Given the description of an element on the screen output the (x, y) to click on. 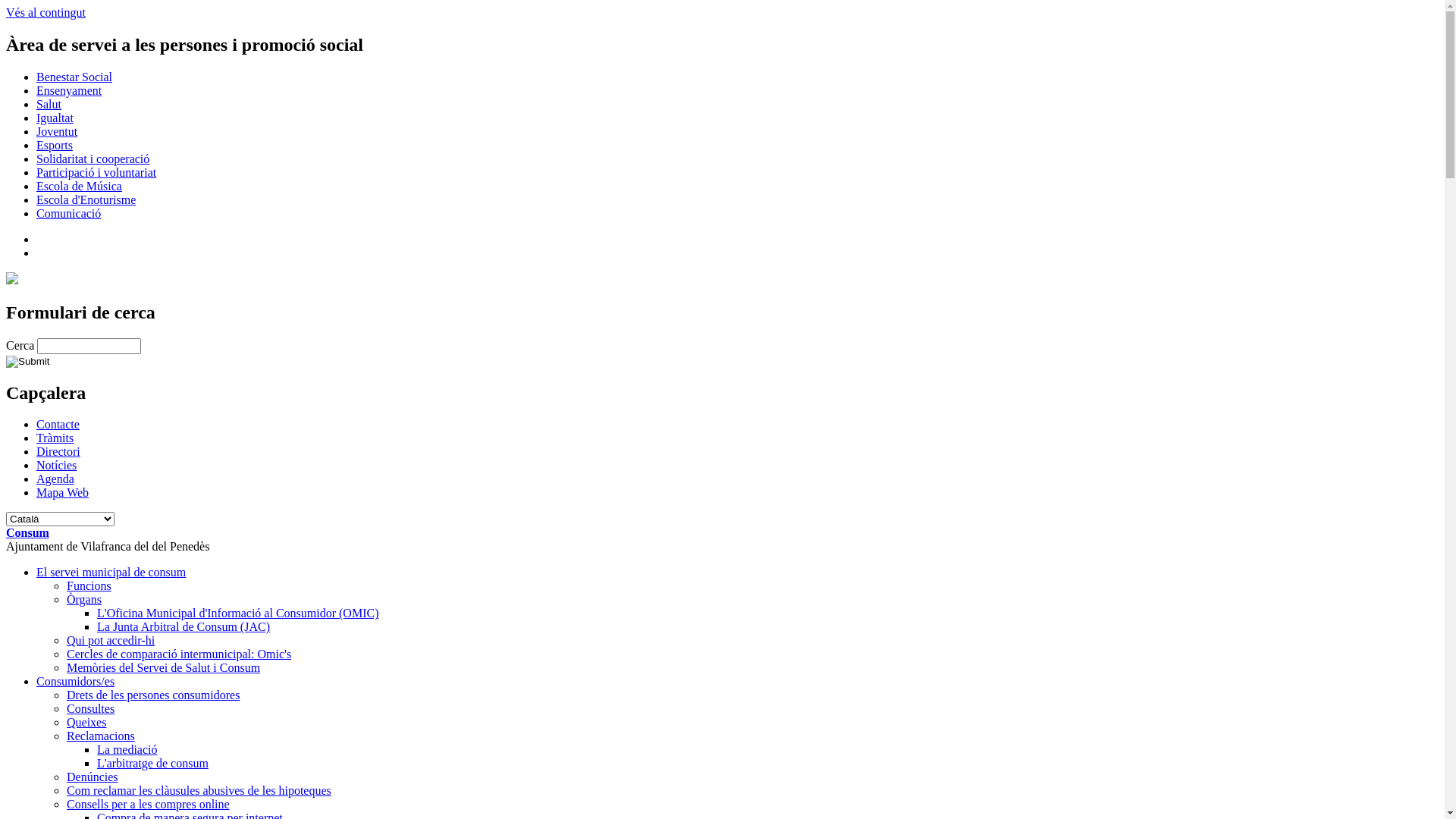
Benestar Social Element type: text (74, 76)
L'arbitratge de consum Element type: text (152, 762)
Consumidors/es Element type: text (75, 680)
Salut Element type: text (48, 103)
Consum Element type: text (27, 532)
Consells per a les compres online Element type: text (147, 803)
Qui pot accedir-hi Element type: text (110, 639)
Contacte Element type: text (57, 423)
Mapa Web Element type: text (62, 492)
Igualtat Element type: text (54, 117)
Agenda Element type: text (55, 478)
Drets de les persones consumidores Element type: text (152, 694)
Esports Element type: text (54, 144)
Directori Element type: text (58, 451)
Joventut Element type: text (56, 131)
La Junta Arbitral de Consum (JAC) Element type: text (183, 626)
Funcions Element type: text (88, 585)
Queixes Element type: text (86, 721)
Reclamacions Element type: text (100, 735)
Escola d'Enoturisme Element type: text (85, 199)
El servei municipal de consum Element type: text (110, 571)
Consultes Element type: text (90, 708)
Ensenyament Element type: text (68, 90)
